Given the description of an element on the screen output the (x, y) to click on. 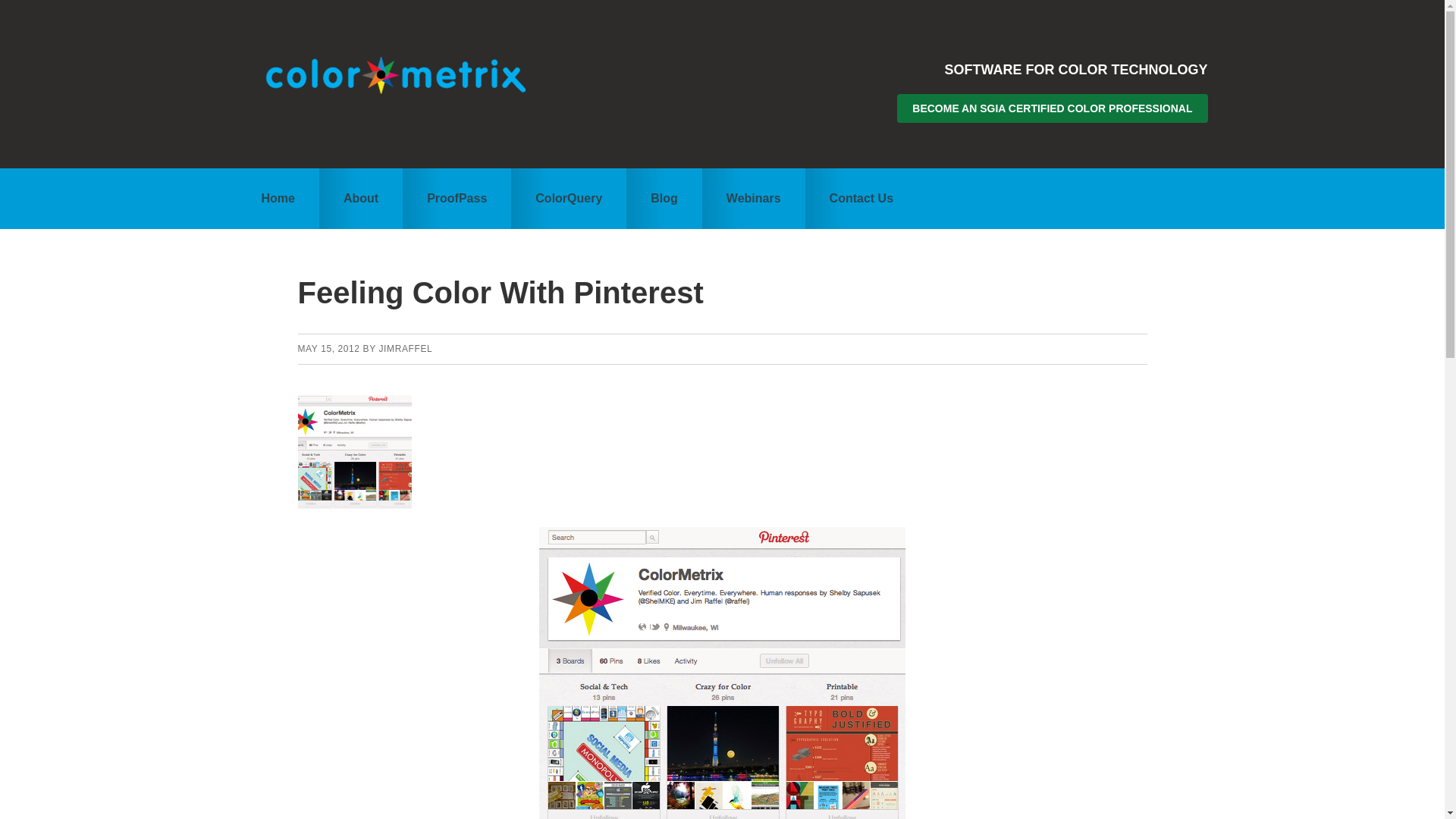
ColorQuery (568, 198)
Home (276, 198)
ColorMetrix Technologies (398, 75)
Contact Us (861, 198)
BECOME AN SGIA CERTIFIED COLOR PROFESSIONAL (1051, 108)
ColorMetrix Pinterest Boards (721, 673)
ProofPass (457, 198)
Blog (663, 198)
Webinars (753, 198)
JIMRAFFEL (405, 348)
About (360, 198)
